Given the description of an element on the screen output the (x, y) to click on. 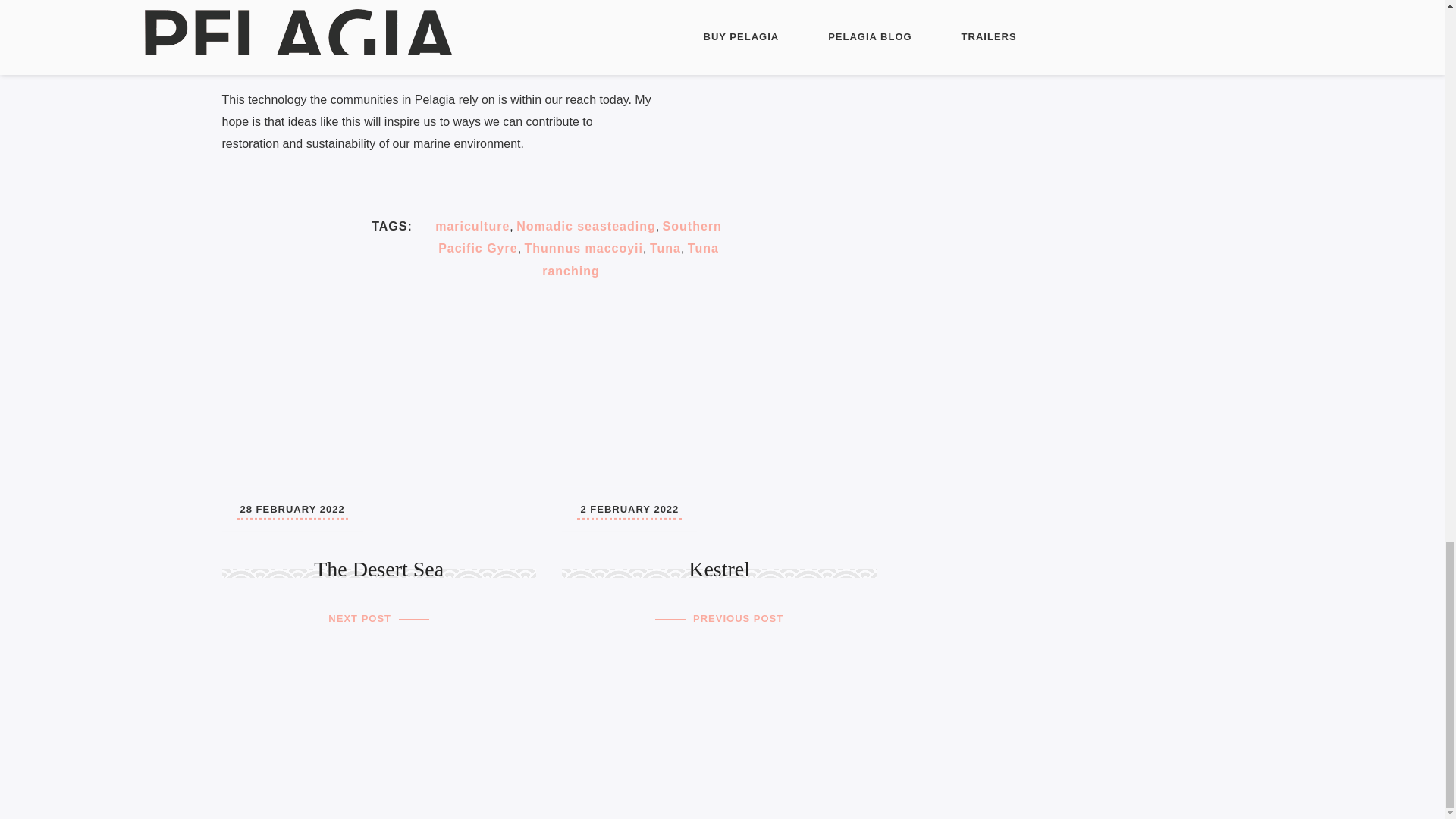
Thunnus maccoyii (583, 247)
Nomadic seasteading (719, 515)
Tuna (586, 226)
Southern Pacific Gyre (665, 247)
Tuna ranching (580, 237)
mariculture (630, 258)
